Given the description of an element on the screen output the (x, y) to click on. 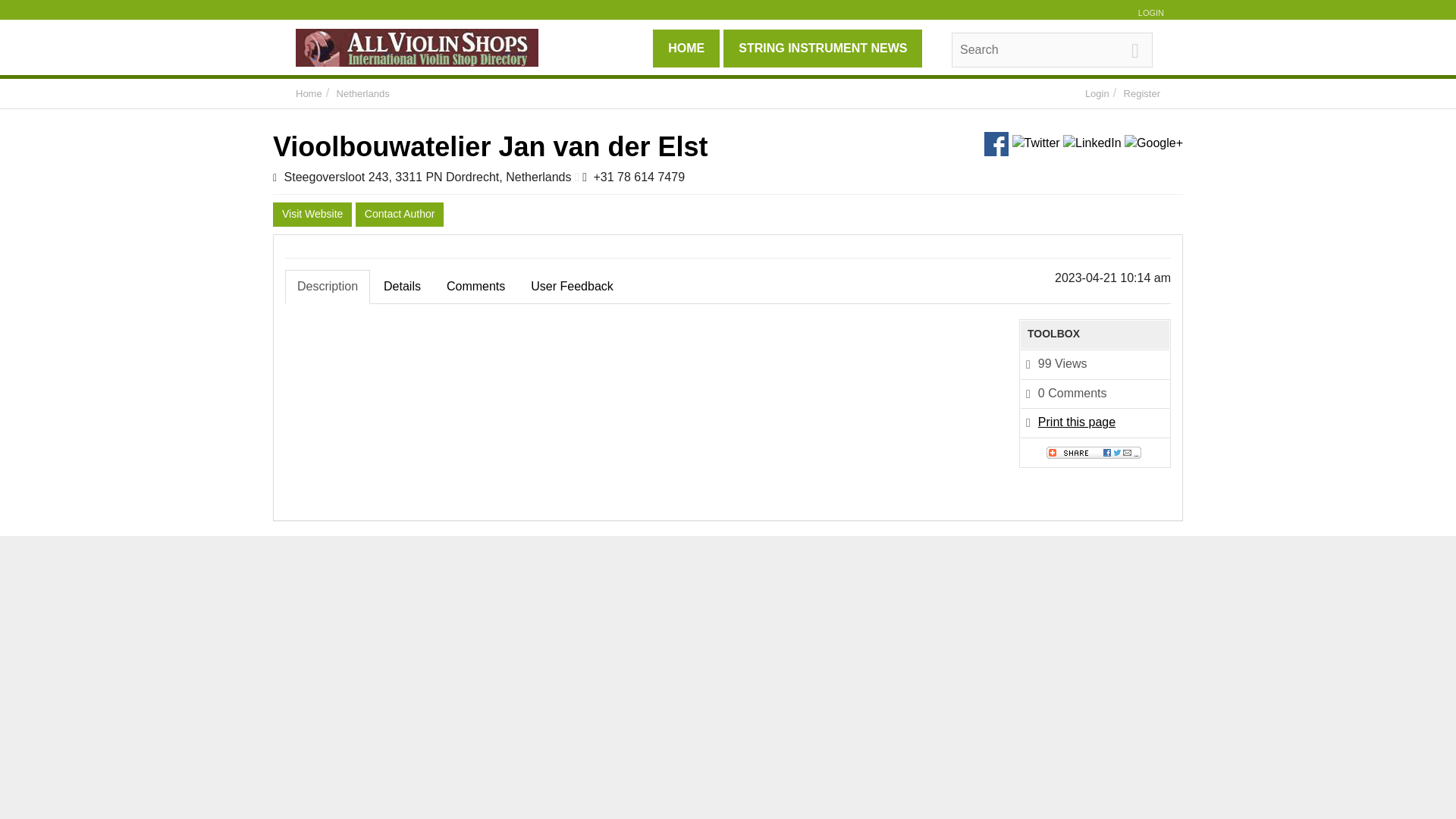
Login (1096, 93)
Register (1142, 93)
Netherlands (363, 93)
STRING INSTRUMENT NEWS (822, 48)
User Feedback (572, 286)
Home (308, 93)
All Violin Shops (432, 47)
HOME (685, 48)
Visit Website (312, 214)
Print this page (1076, 421)
Vioolbouwatelier Jan van der Elst (490, 146)
Details (401, 286)
Comments (474, 286)
Description (327, 286)
Contact Author (399, 214)
